Given the description of an element on the screen output the (x, y) to click on. 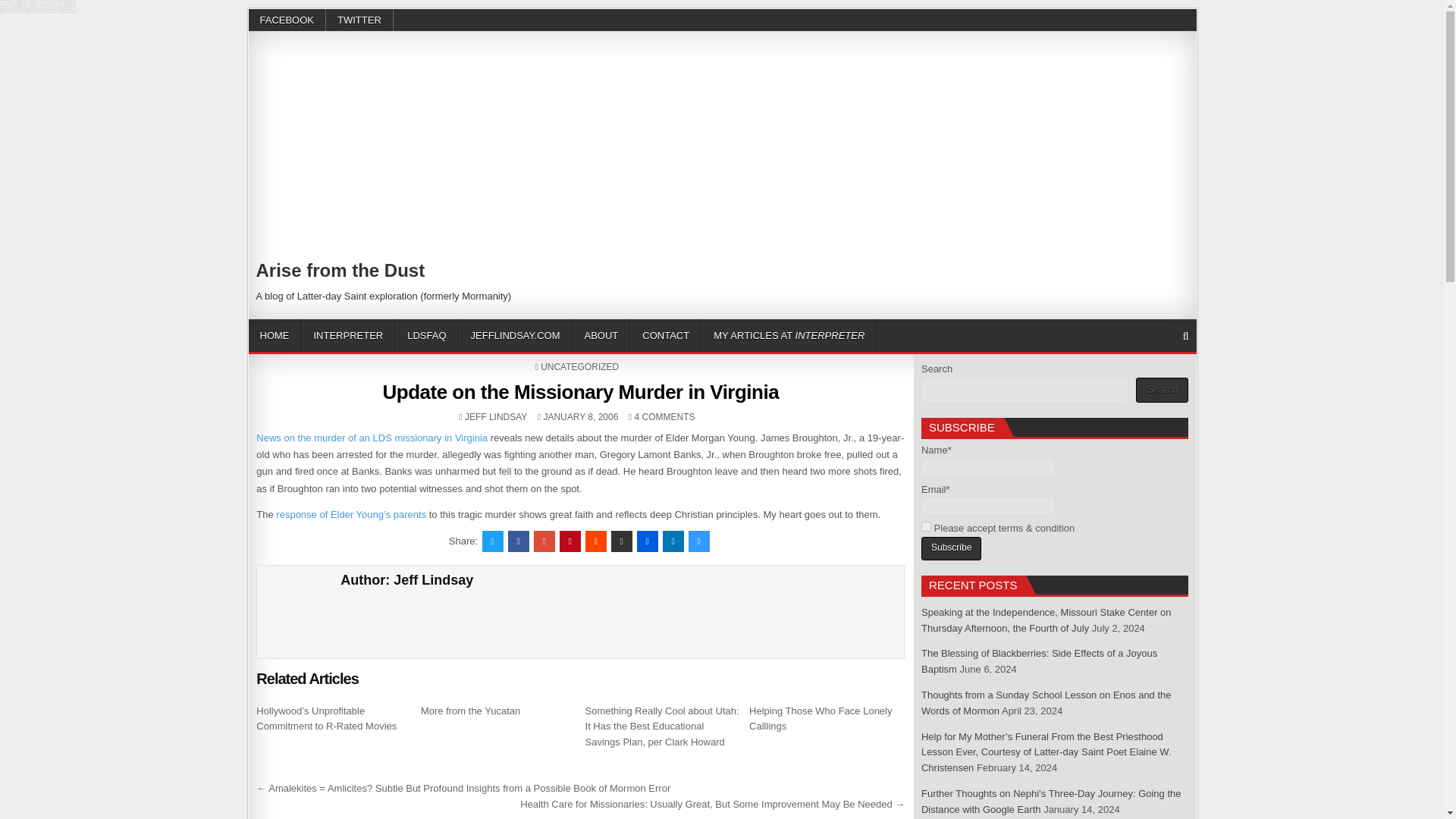
MY ARTICLES AT INTERPRETER (788, 335)
Update on the Missionary Murder in Virginia (579, 391)
true (926, 526)
Share this on Reddit (596, 541)
Share this on Delicious (699, 541)
4 COMMENTS (663, 416)
Arise from the Dust (340, 270)
JEFFLINDSAY.COM (515, 335)
Helping Those Who Face Lonely Calllings (820, 718)
Tweet This! (492, 541)
